Given the description of an element on the screen output the (x, y) to click on. 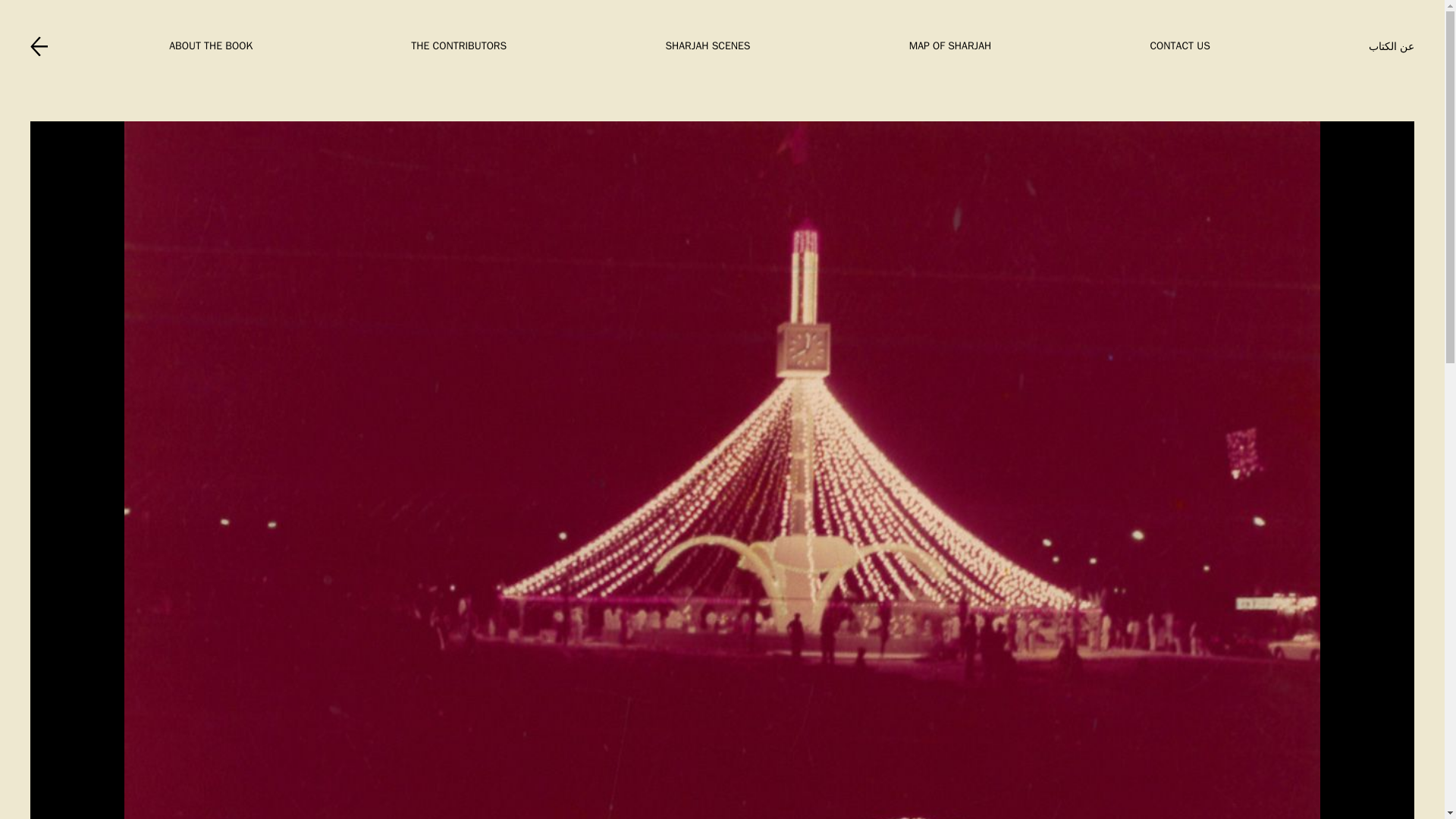
ABOUT THE BOOK (209, 46)
MAP OF SHARJAH (949, 46)
SHARJAH SCENES (707, 46)
THE CONTRIBUTORS (458, 46)
CONTACT US (1179, 46)
